Given the description of an element on the screen output the (x, y) to click on. 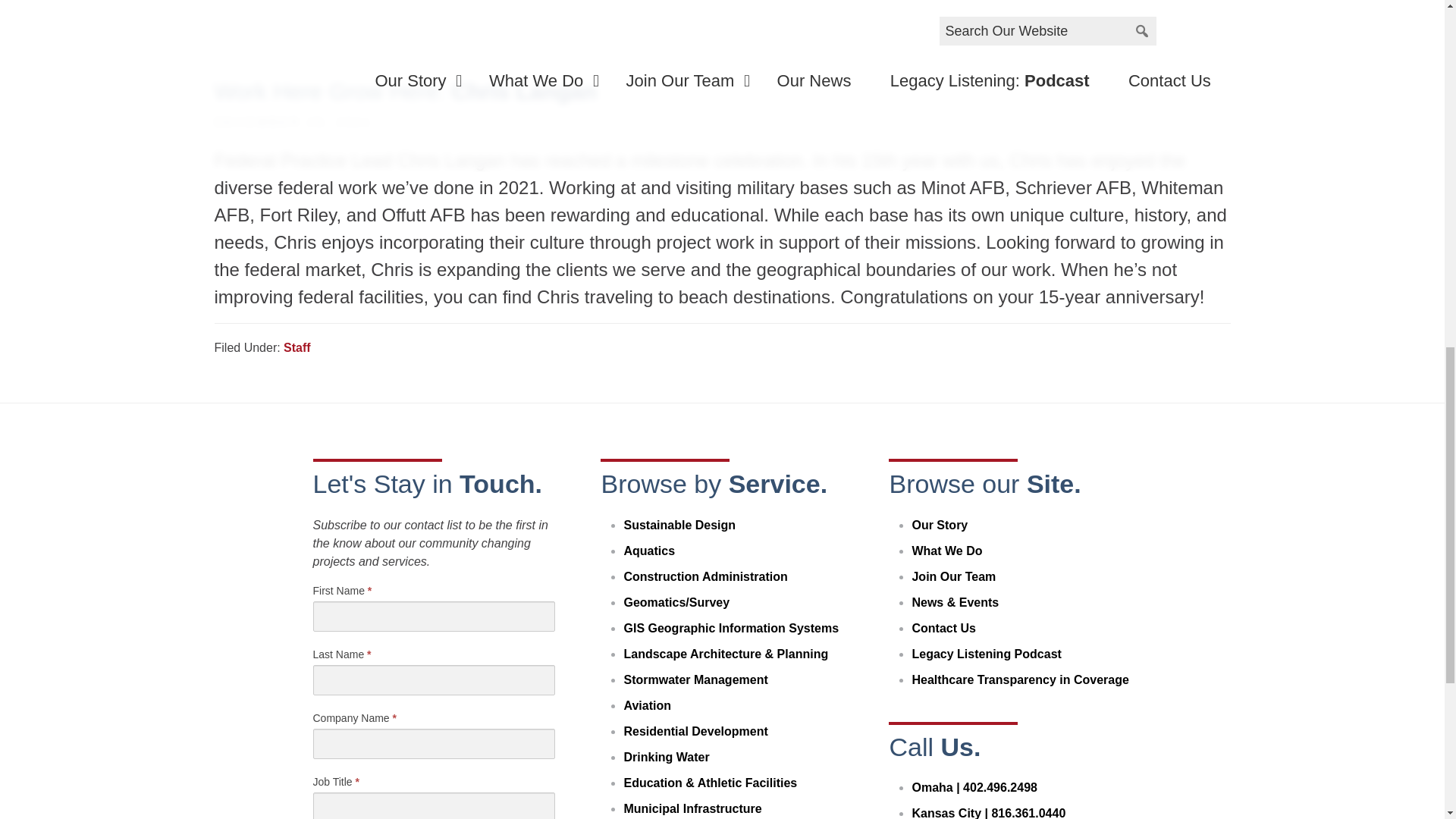
Construction Administration (705, 576)
Drinking Water (666, 757)
ChrisLanganWHGHFeature - Lamp Rynearson (722, 27)
Sustainable Design (679, 524)
Aquatics (649, 550)
Aviation (647, 705)
Residential Development (695, 730)
Stormwater Management (695, 679)
GIS Geographic Information Systems (730, 627)
